Given the description of an element on the screen output the (x, y) to click on. 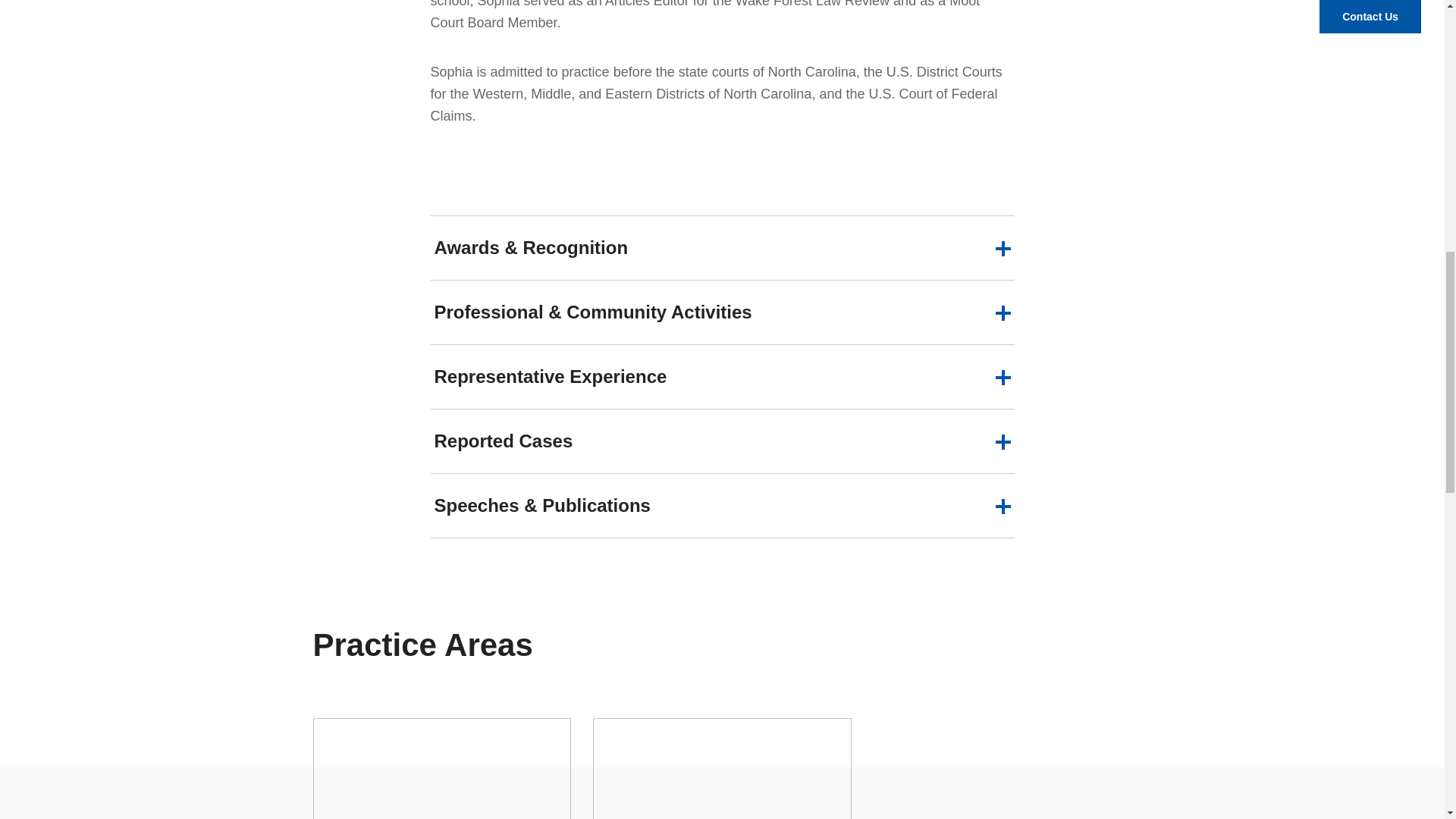
Reported Cases (722, 441)
Representative Experience (722, 376)
